Given the description of an element on the screen output the (x, y) to click on. 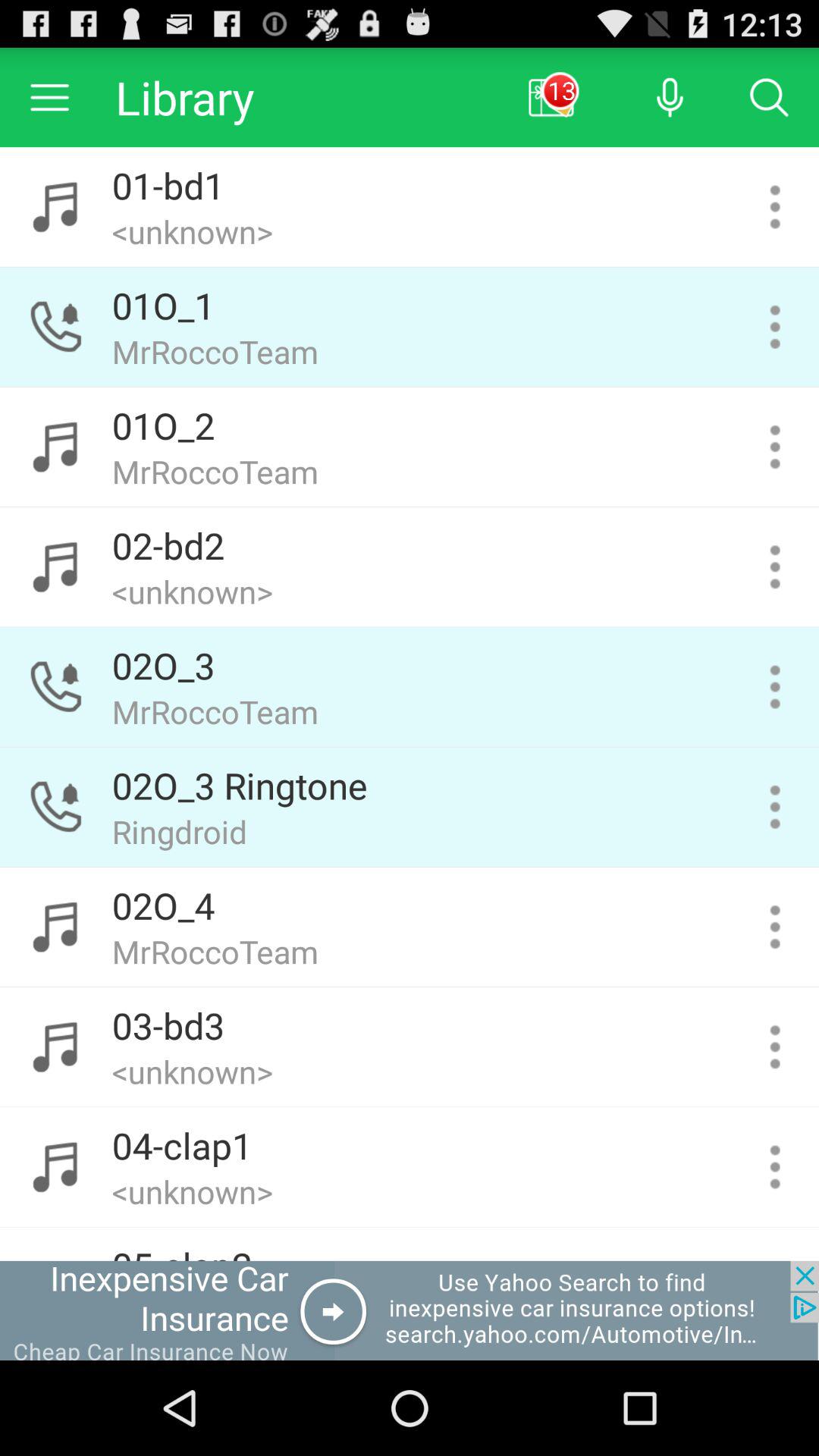
see more options (775, 446)
